Given the description of an element on the screen output the (x, y) to click on. 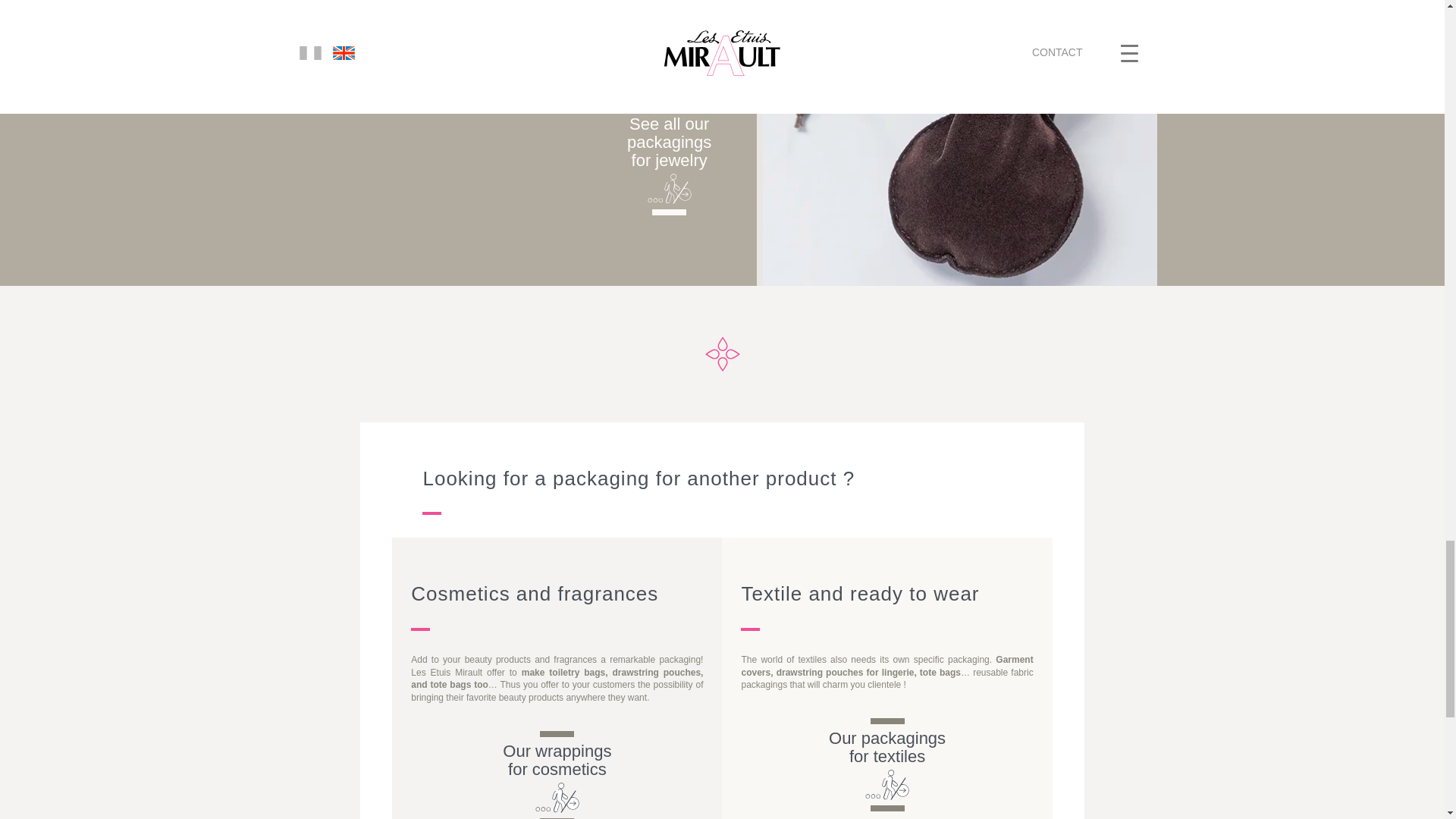
Textile and ready to wear (886, 747)
Home (669, 142)
Cosmetics and fragrances (556, 760)
